Given the description of an element on the screen output the (x, y) to click on. 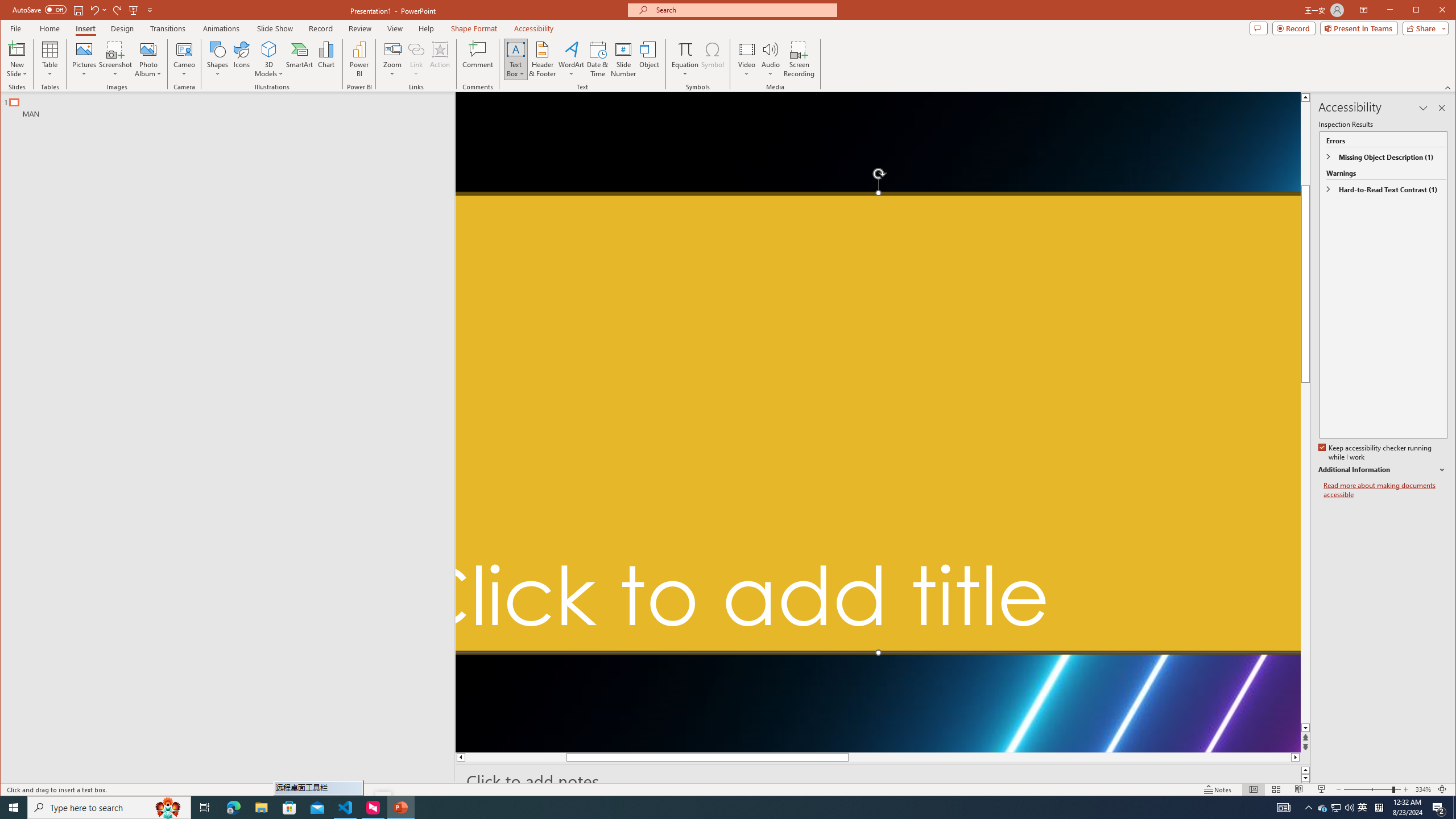
Action (440, 59)
Table (49, 59)
Chart... (325, 59)
3D Models (269, 48)
Object... (649, 59)
